Given the description of an element on the screen output the (x, y) to click on. 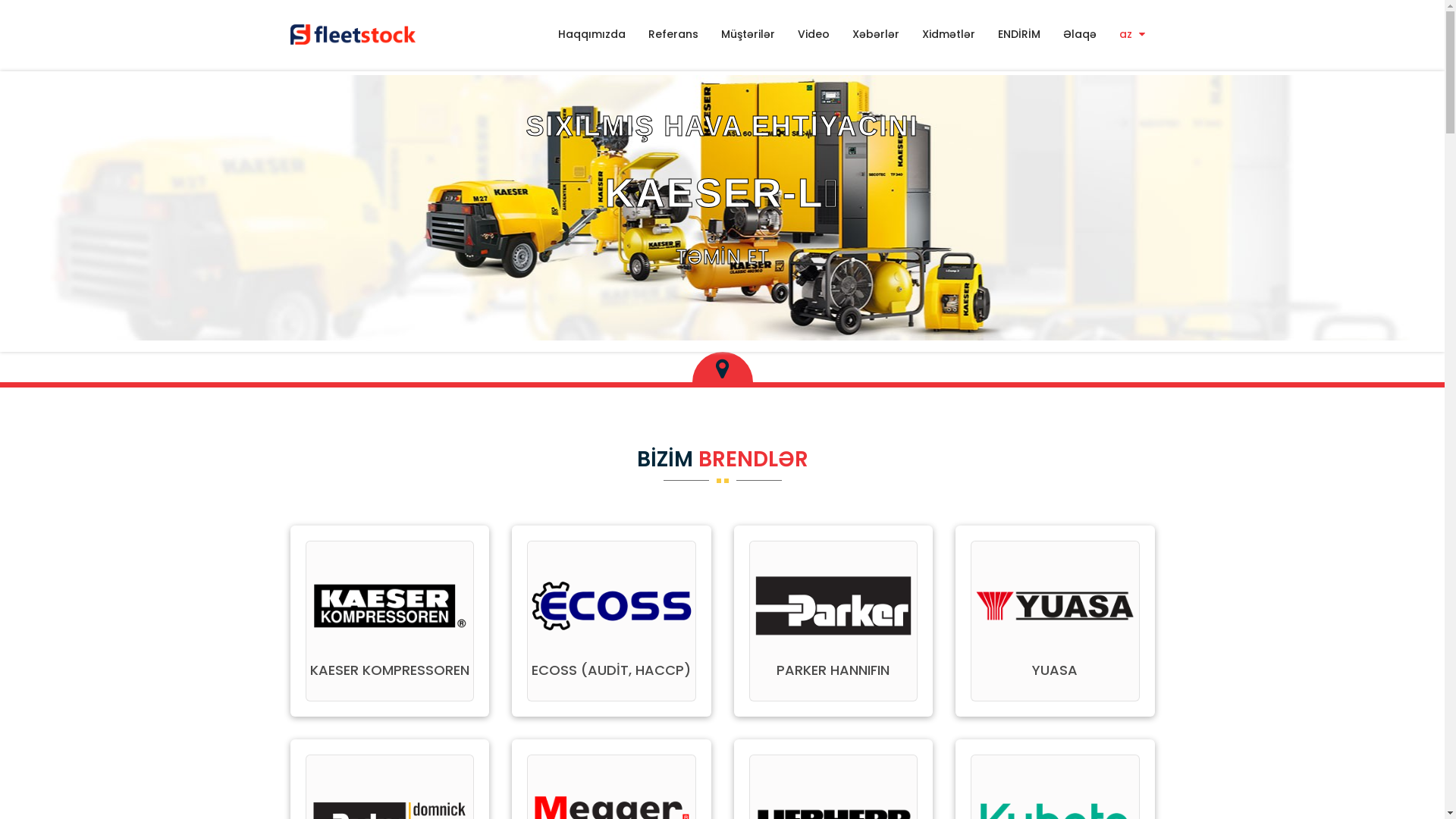
Video Element type: text (812, 33)
Referans Element type: text (673, 33)
az Element type: text (1131, 33)
KAESER KOMPRESSOREN Element type: text (389, 669)
YUASA Element type: text (1054, 669)
Scroll Element type: text (1417, 782)
PARKER HANNIFIN Element type: text (832, 669)
